Given the description of an element on the screen output the (x, y) to click on. 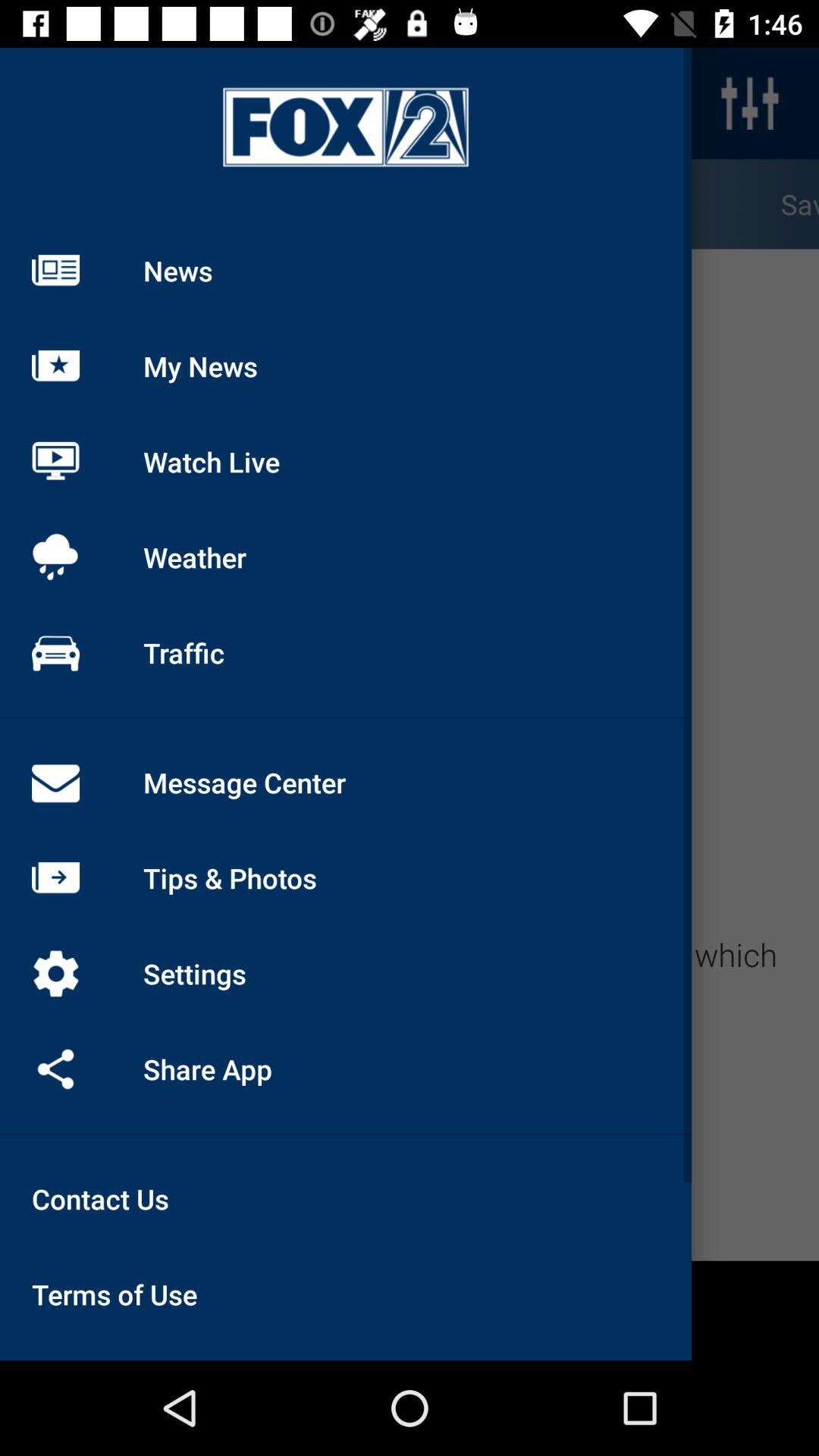
equiliser icon right to fox2 logo (749, 103)
